Given the description of an element on the screen output the (x, y) to click on. 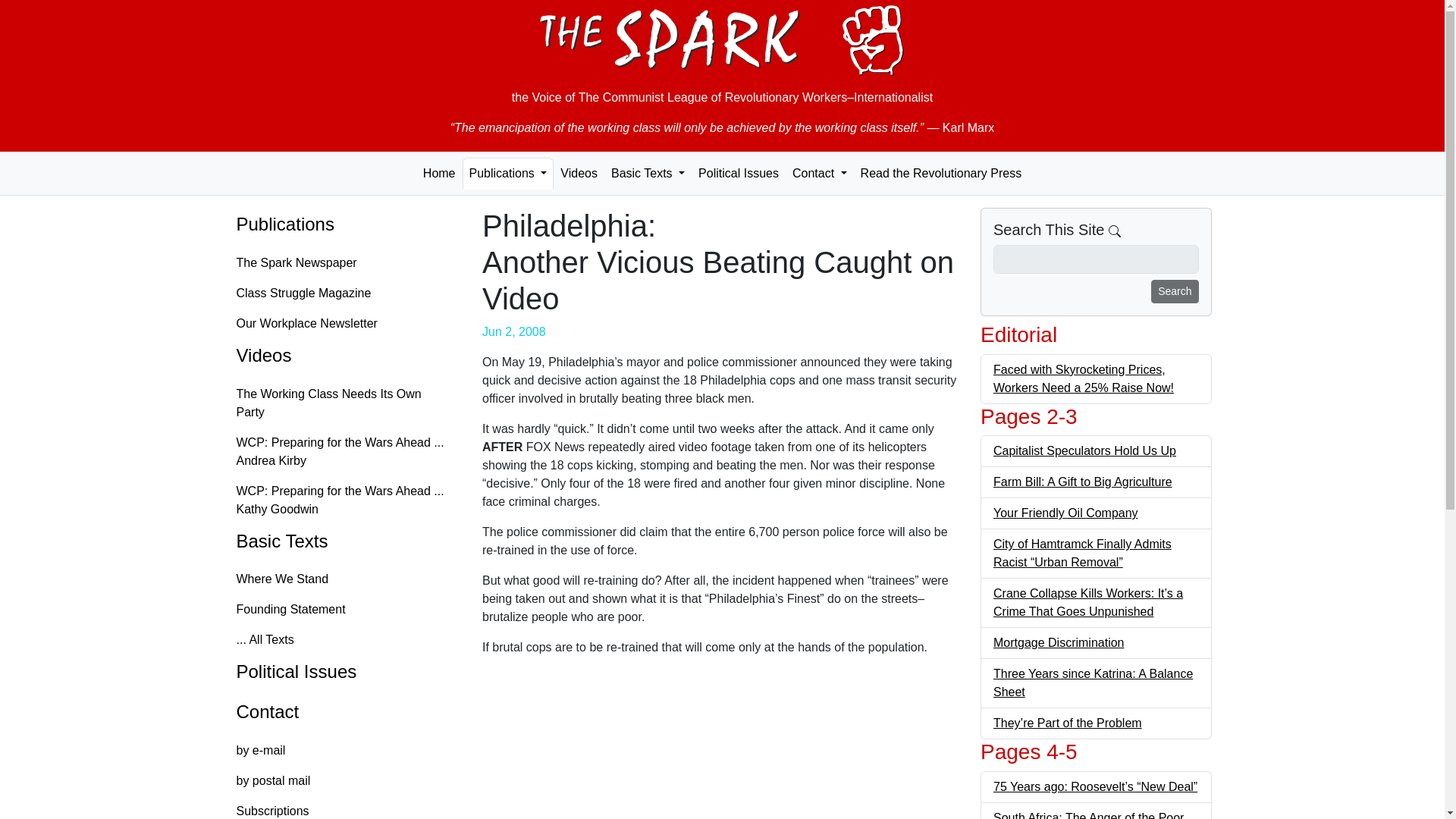
by e-mail (344, 750)
Publications (344, 224)
Read the Revolutionary Press (941, 173)
Revolutionary Publications from Other Countries (941, 173)
Class Struggle Magazine (344, 293)
Mortgage Discrimination (1058, 642)
WCP: Preparing for the Wars Ahead ... Kathy Goodwin (344, 499)
Your Friendly Oil Company (1065, 512)
Postal mail addresses (344, 780)
Search (1174, 291)
